Given the description of an element on the screen output the (x, y) to click on. 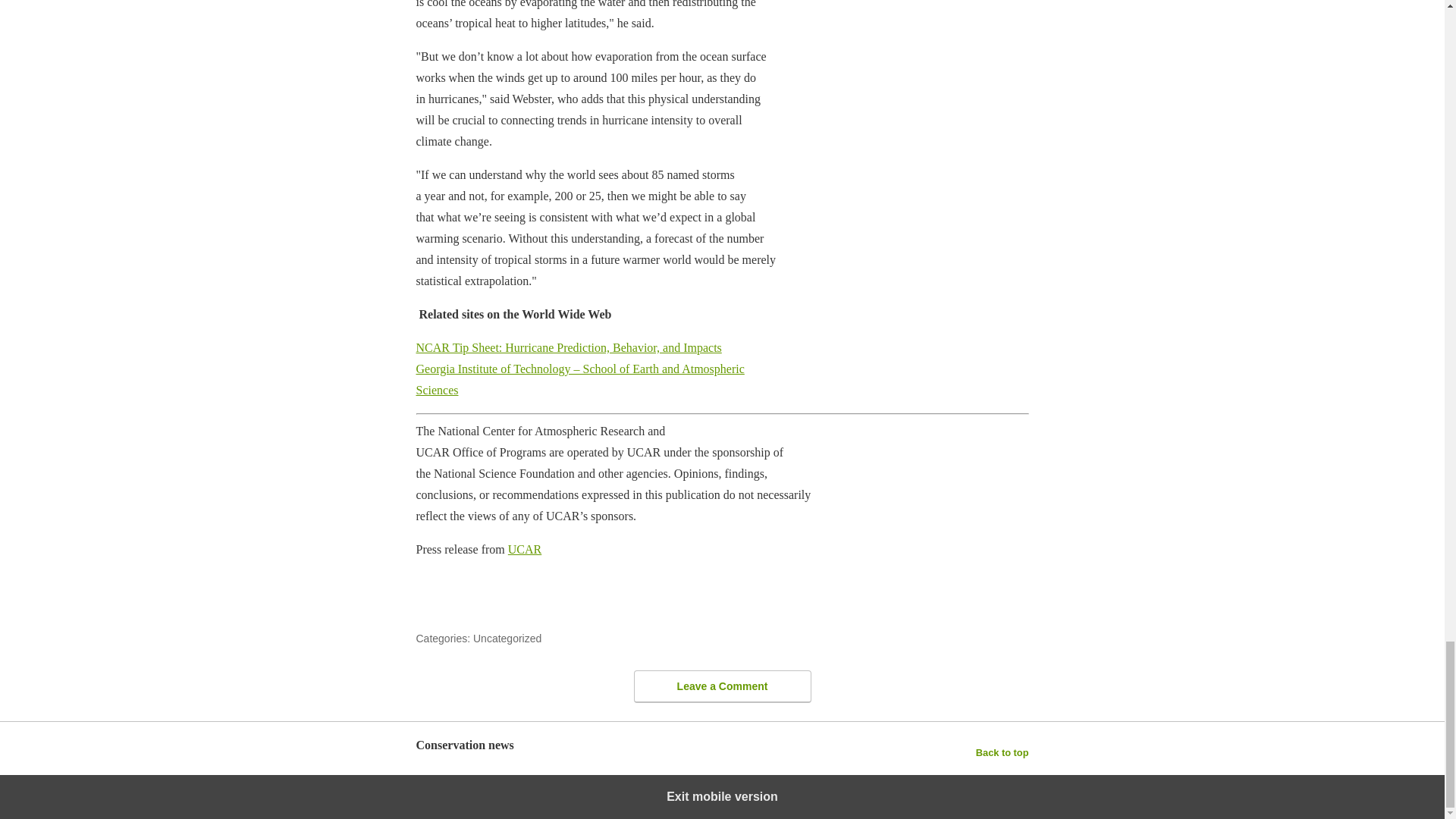
UCAR (524, 549)
Leave a Comment (721, 686)
Back to top (1002, 752)
NCAR Tip Sheet: Hurricane Prediction, Behavior, and Impacts (567, 347)
